Given the description of an element on the screen output the (x, y) to click on. 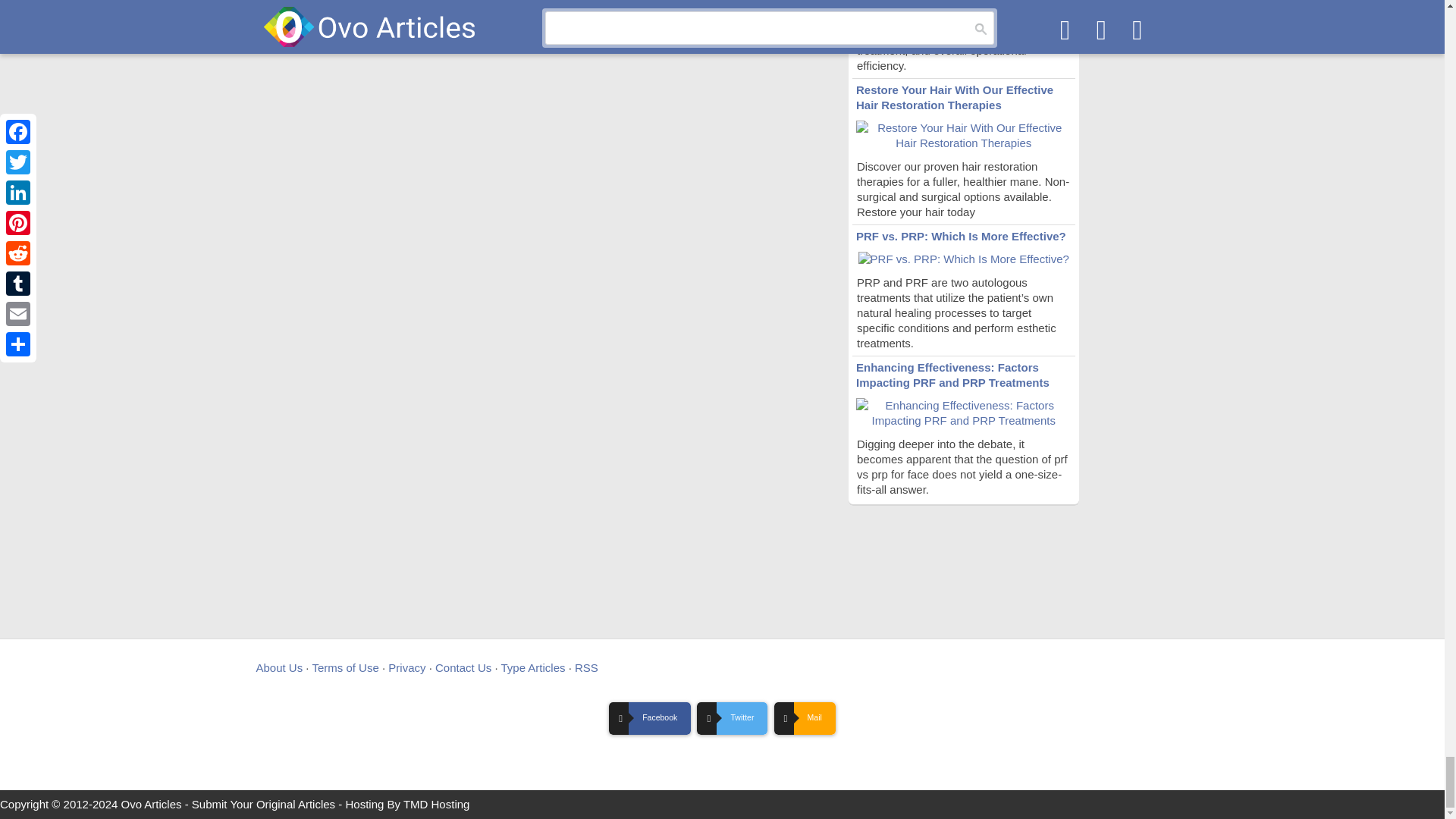
Follow us on Facebook. (649, 718)
Contact us. (804, 718)
Follow us on Twitter. (732, 718)
